Given the description of an element on the screen output the (x, y) to click on. 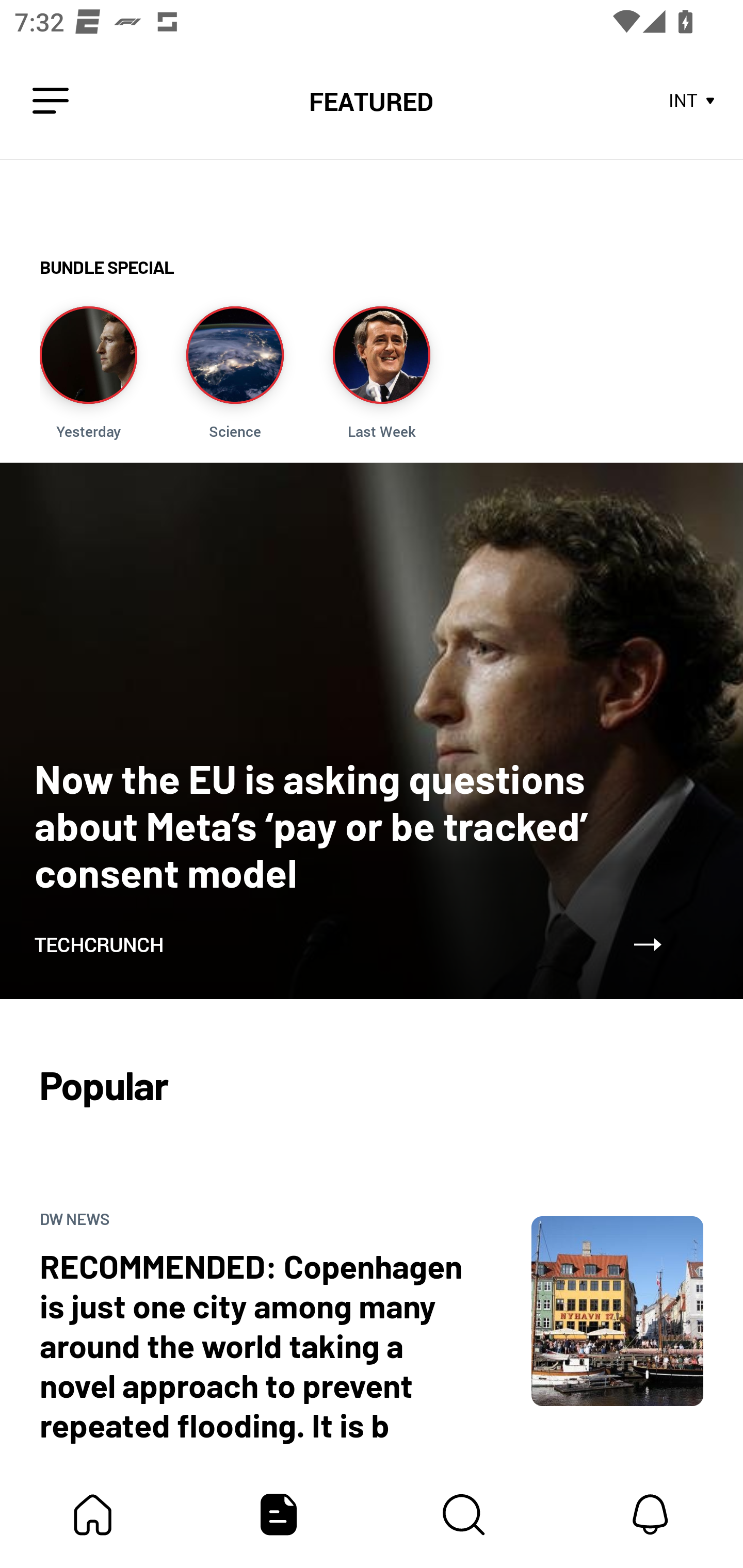
Leading Icon (50, 101)
INT Store Area (692, 101)
Story Image Yesterday (88, 372)
Story Image Science (234, 372)
Story Image Last Week (381, 372)
My Bundle (92, 1514)
Content Store (464, 1514)
Notifications (650, 1514)
